Given the description of an element on the screen output the (x, y) to click on. 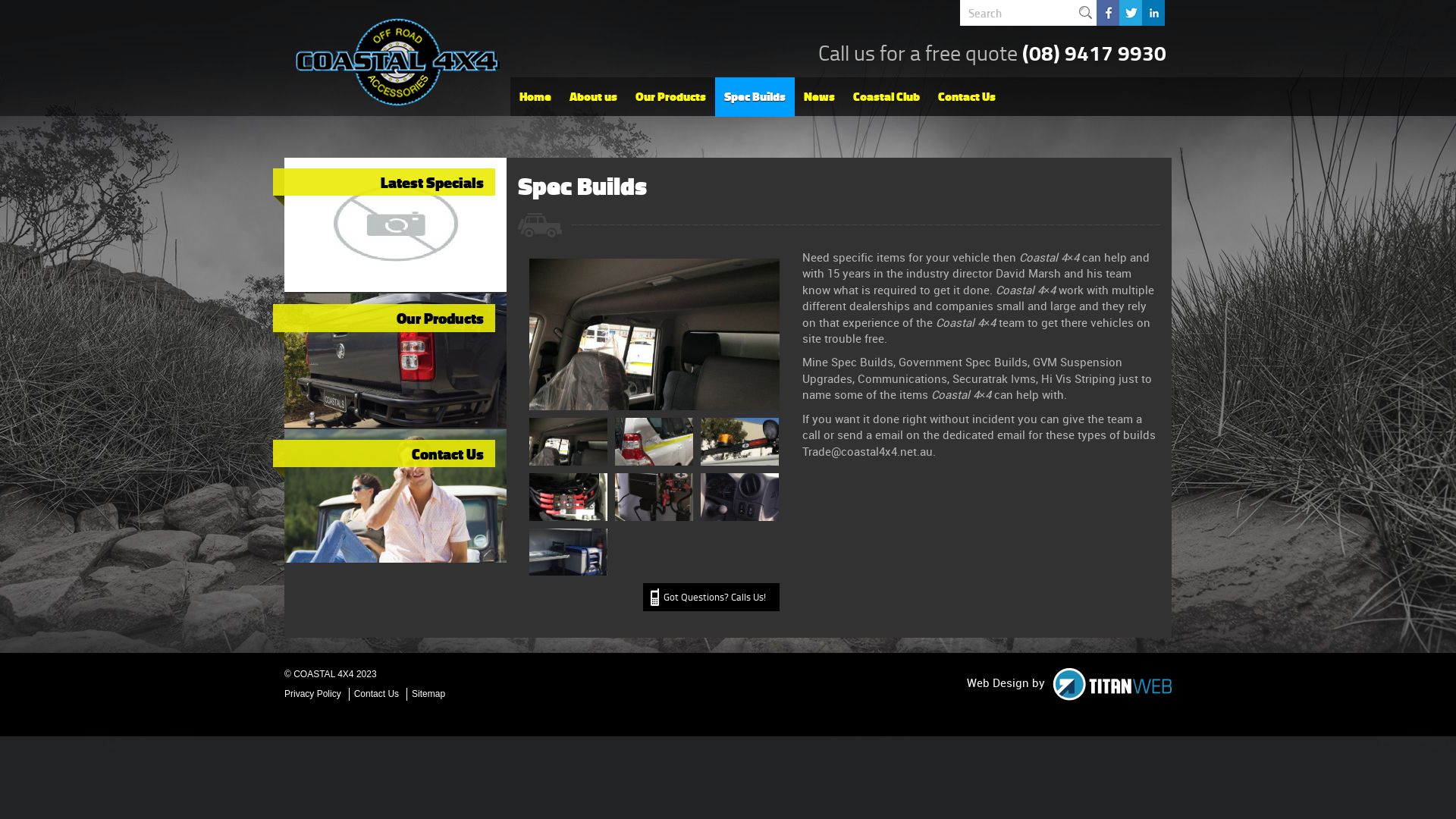
News Element type: text (819, 96)
240 V and 12 Volt power solutions  Element type: hover (653, 496)
About us Element type: text (593, 96)
Home Element type: text (535, 96)
(08) 9417 9930 Element type: text (1094, 52)
Contact Us Element type: text (384, 458)
QVEE Switches Landcruiser 70srs Dash  Element type: hover (739, 496)
Our Products Element type: text (384, 323)
Coastal Club Element type: text (886, 96)
?????????????????????????? Element type: hover (567, 551)
Qvee Hilevel Lights Element type: hover (739, 441)
Privacy Policy Element type: text (314, 693)
COASTAL 4X4 Element type: hover (397, 62)
Sitemap Element type: text (428, 693)
Our Products Element type: text (670, 96)
Latest Specials Element type: text (384, 187)
light up fuse holder Element type: hover (567, 496)
Contact Us Element type: text (376, 693)
Hi Vis Striping Element type: hover (653, 441)
Spec Builds Element type: text (754, 96)
Contact Us Element type: text (966, 96)
internal roll over protection Element type: hover (567, 441)
Got Questions? Calls Us! Element type: text (711, 597)
Titan Web Element type: hover (1111, 684)
